Given the description of an element on the screen output the (x, y) to click on. 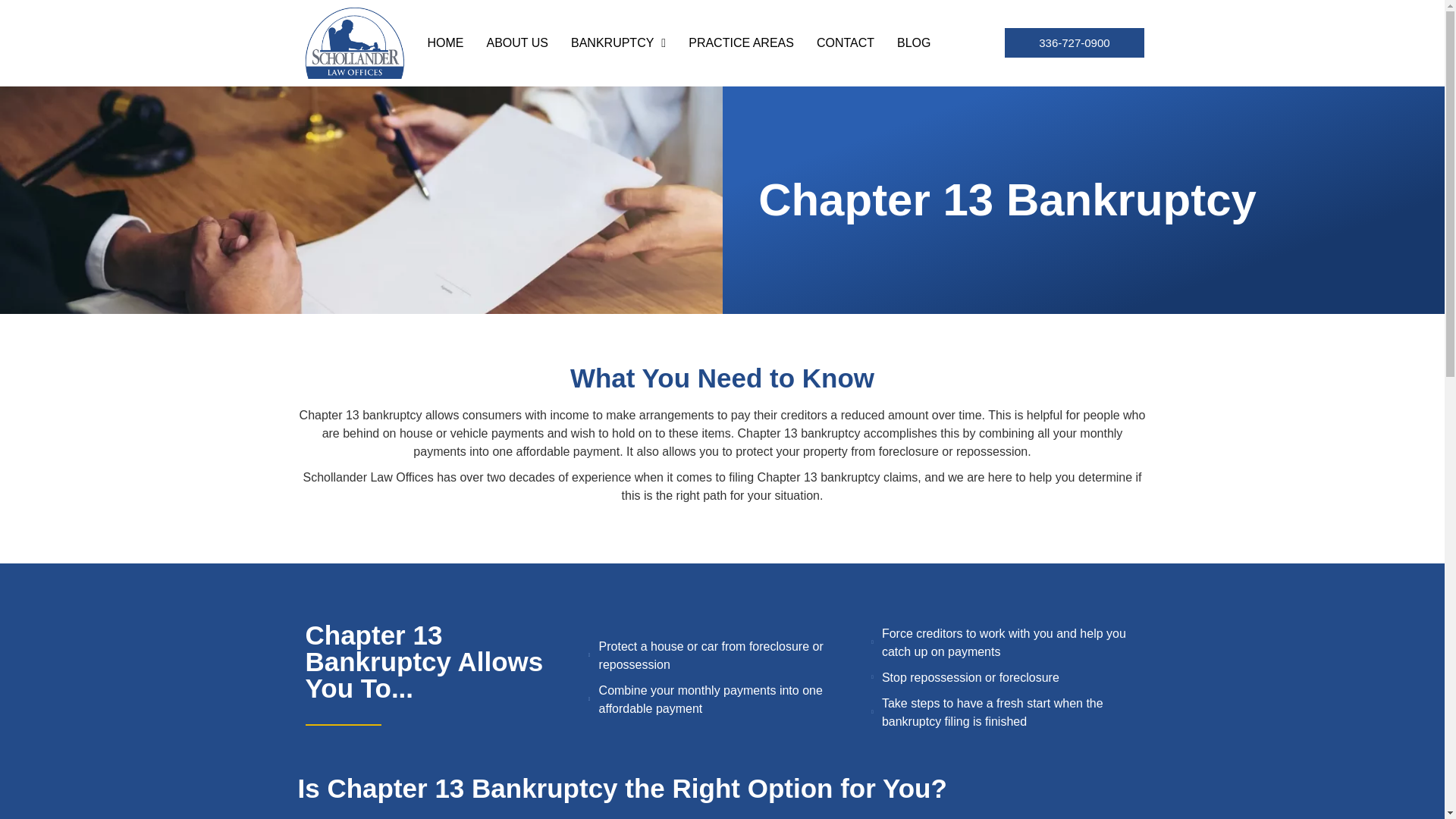
HOME (446, 42)
CONTACT (845, 42)
BANKRUPTCY (617, 42)
PRACTICE AREAS (740, 42)
336-727-0900 (1073, 42)
BLOG (913, 42)
ABOUT US (517, 42)
